Given the description of an element on the screen output the (x, y) to click on. 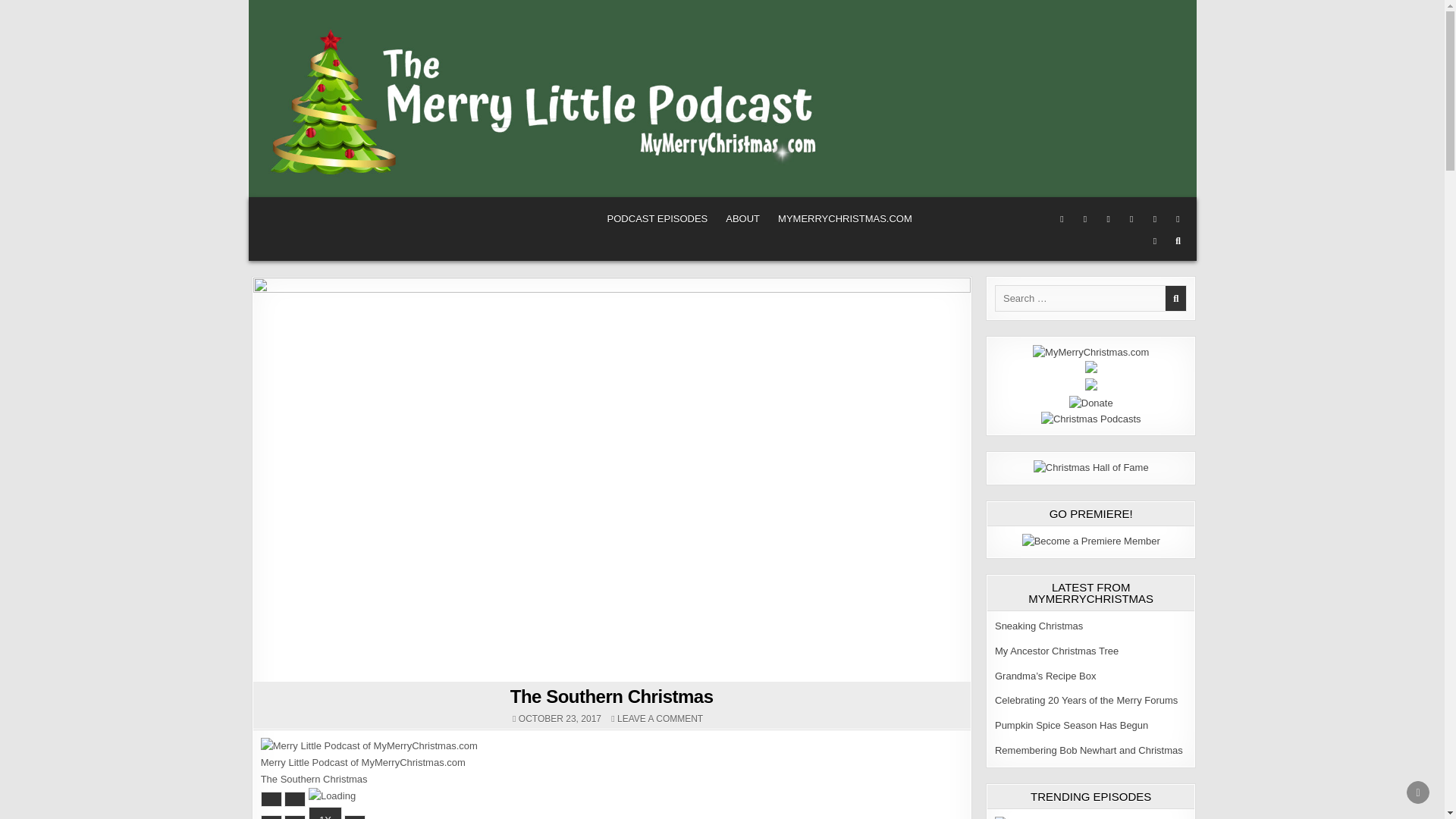
PLAY EPISODE (271, 798)
ABOUT (742, 218)
PAUSE EPISODE (294, 798)
Permanent Link to The Southern Christmas (660, 718)
Merry Little Podcast of MyMerryChristmas.com (354, 816)
1X (368, 745)
MYMERRYCHRISTMAS.COM (325, 812)
Play (844, 218)
